Given the description of an element on the screen output the (x, y) to click on. 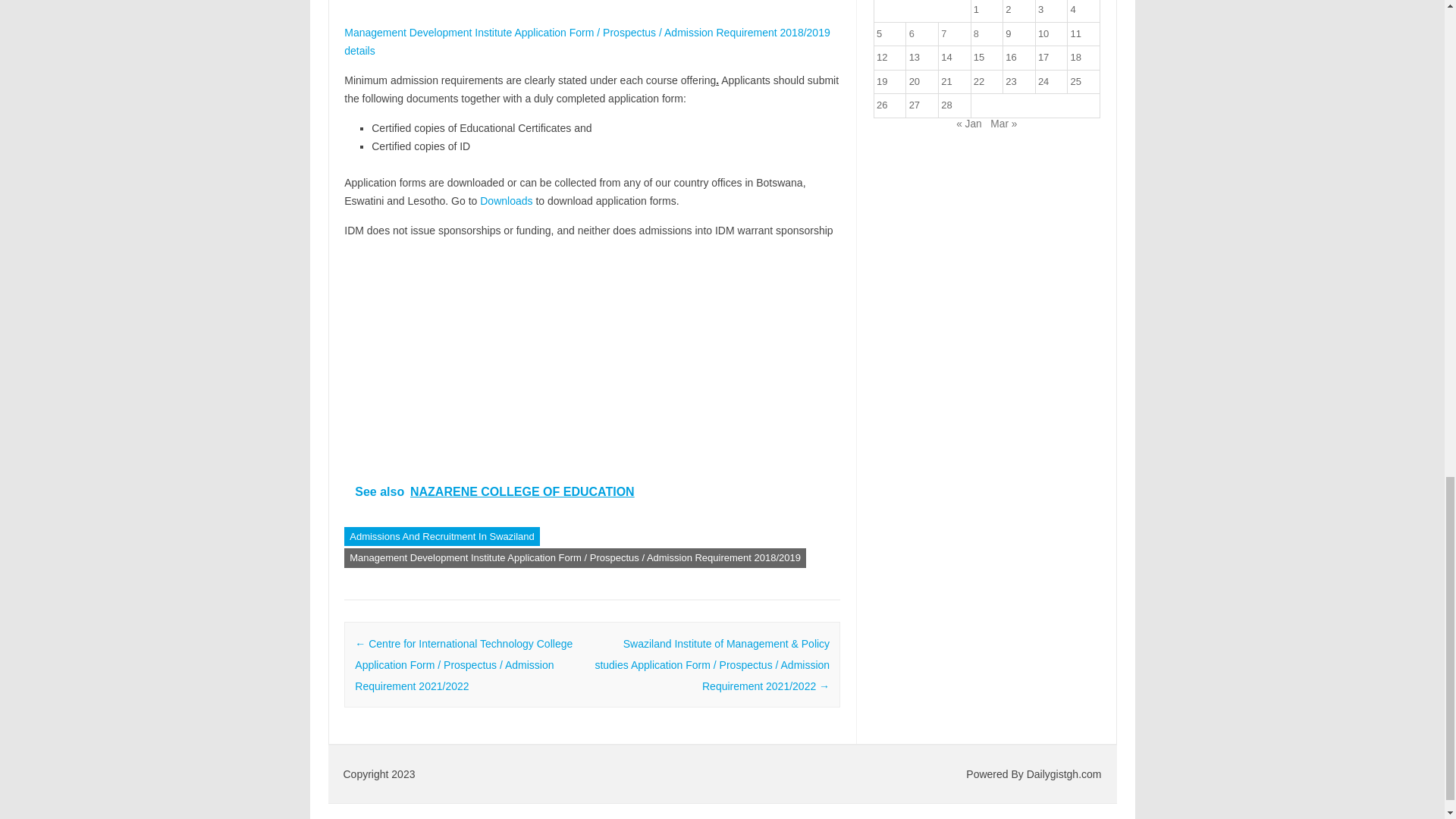
Downloads (506, 200)
Advertisement (591, 356)
Admissions And Recruitment In Swaziland (441, 537)
See also  NAZARENE COLLEGE OF EDUCATION (591, 491)
Advertisement (591, 7)
